Given the description of an element on the screen output the (x, y) to click on. 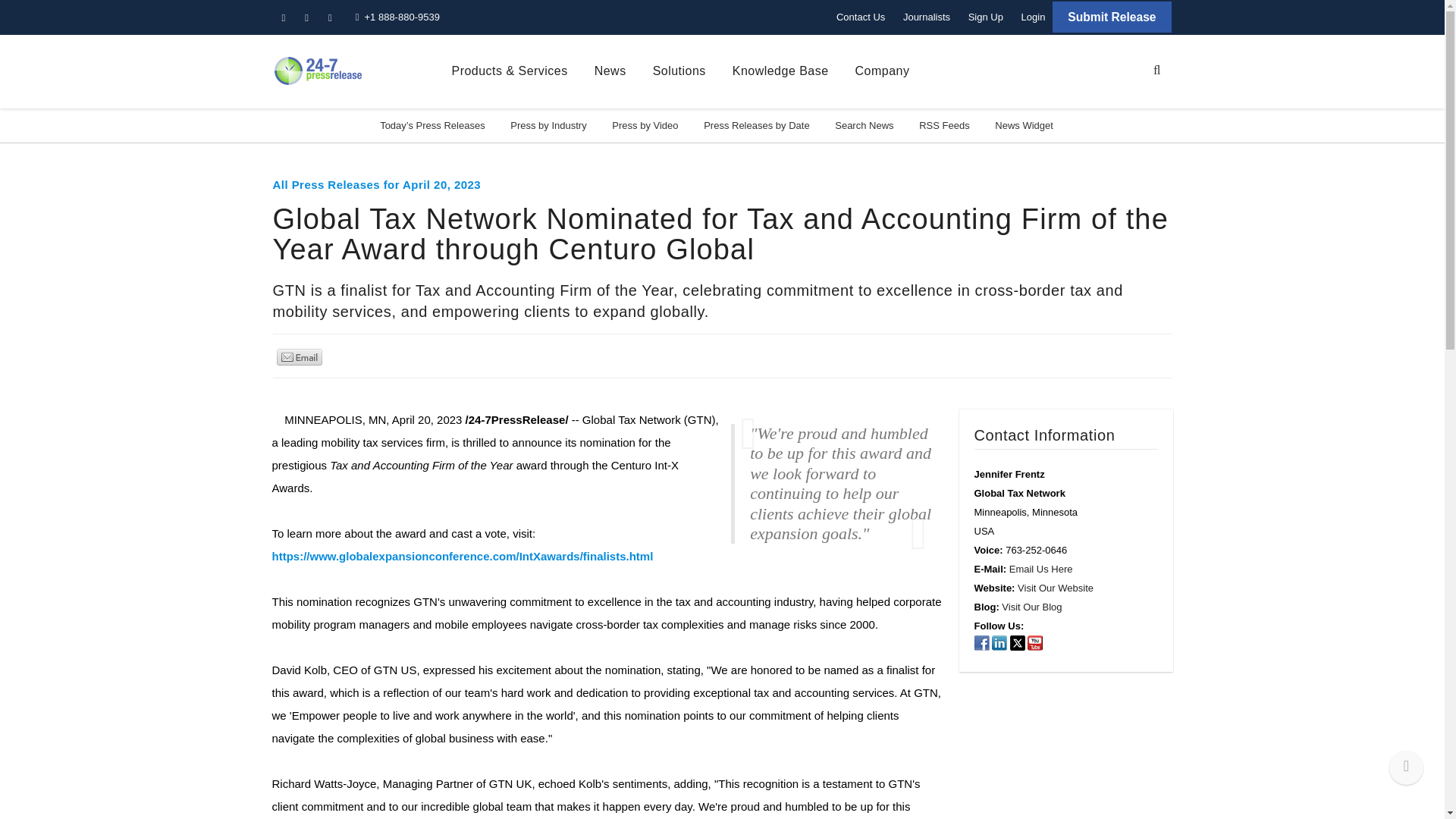
Contact Us (860, 16)
Company (882, 71)
Knowledge Base (780, 71)
Journalists (926, 16)
Sign Up (985, 16)
Submit Release (1111, 16)
Solutions (679, 71)
Login (1032, 16)
